Given the description of an element on the screen output the (x, y) to click on. 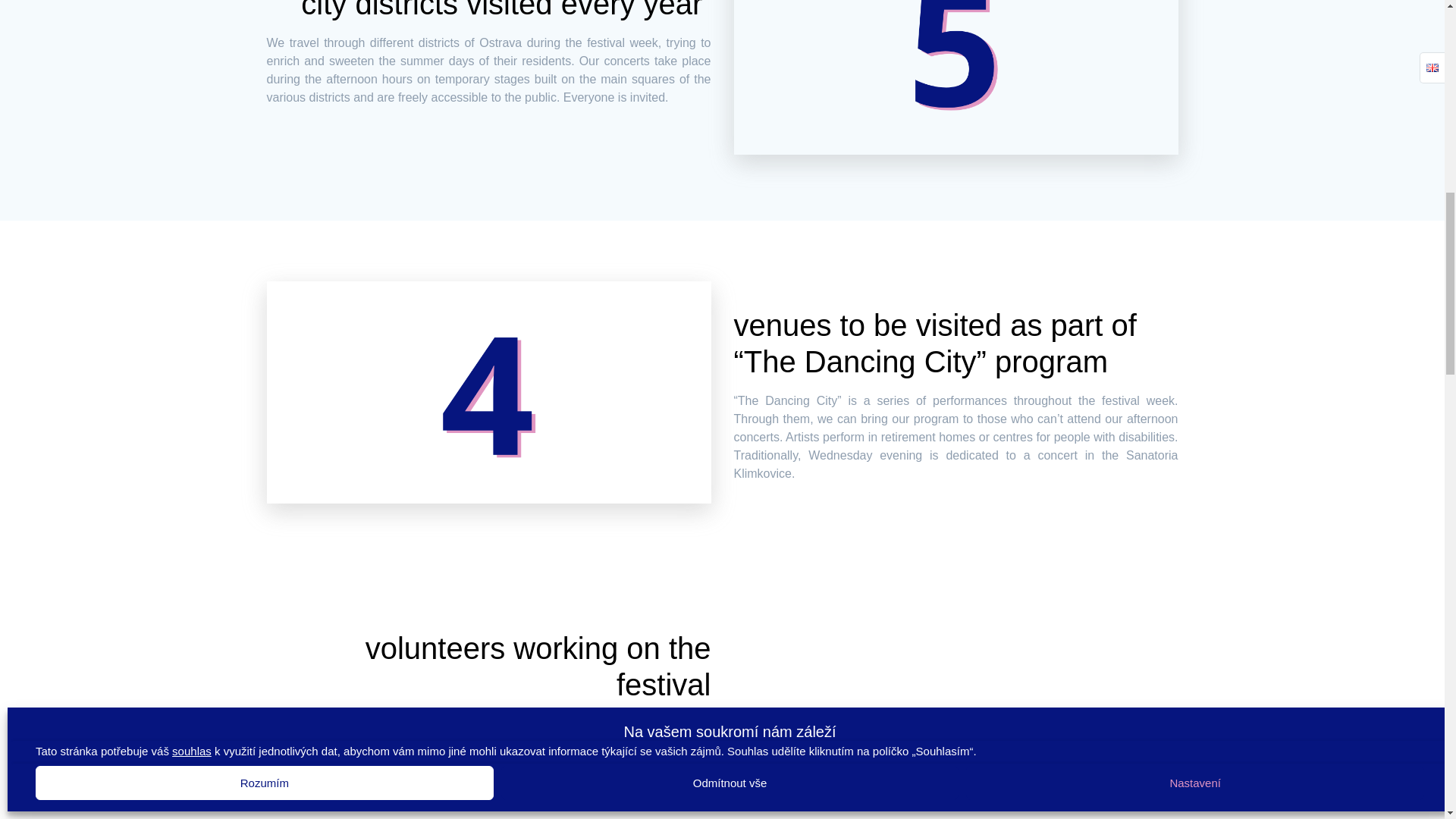
pocet obvodu (955, 77)
roztancene mesto (488, 392)
Who is in the team? (441, 796)
